Given the description of an element on the screen output the (x, y) to click on. 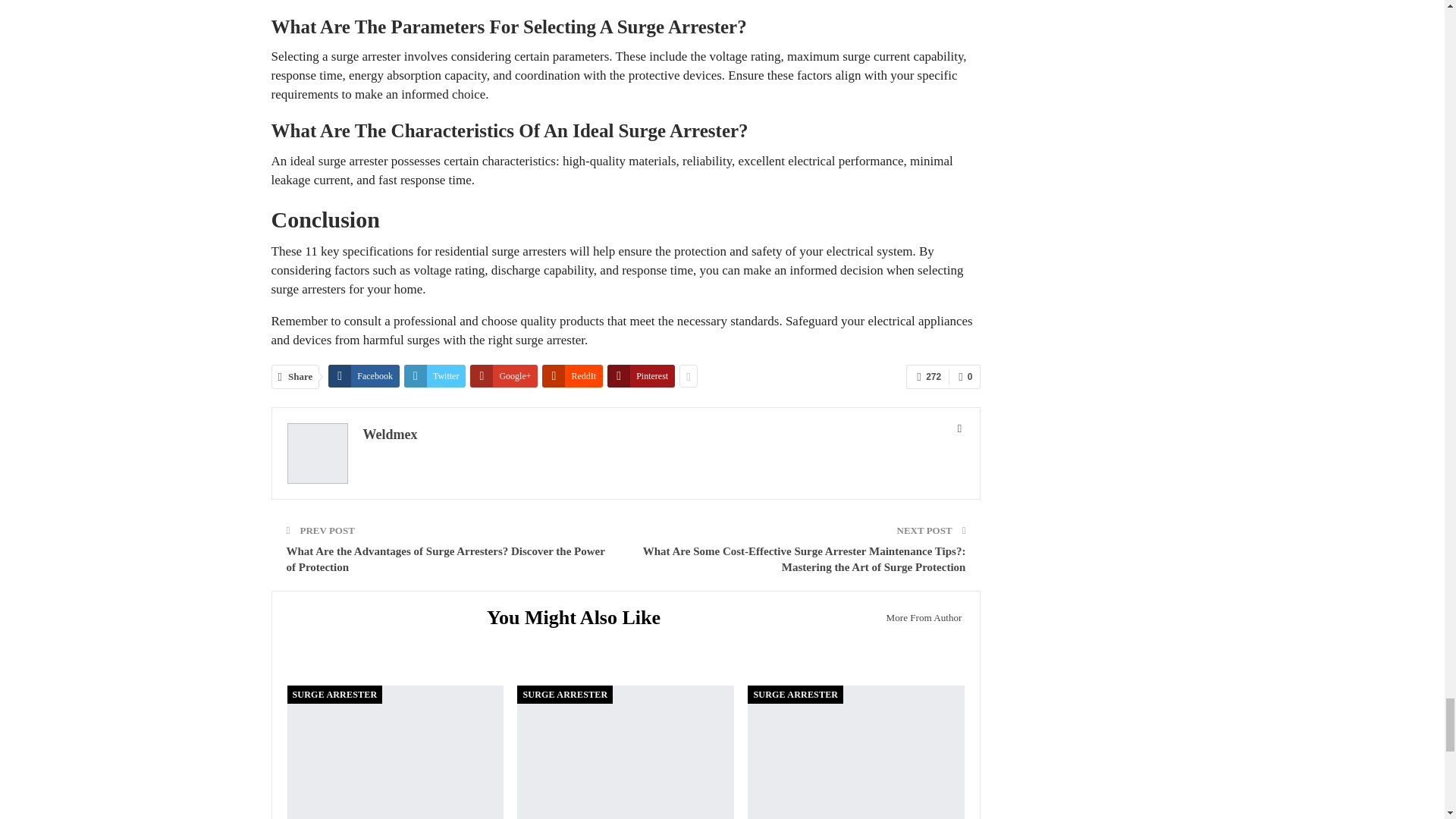
ReddIt (571, 375)
Pinterest (641, 375)
Facebook (363, 375)
0 (964, 376)
Twitter (434, 375)
